Given the description of an element on the screen output the (x, y) to click on. 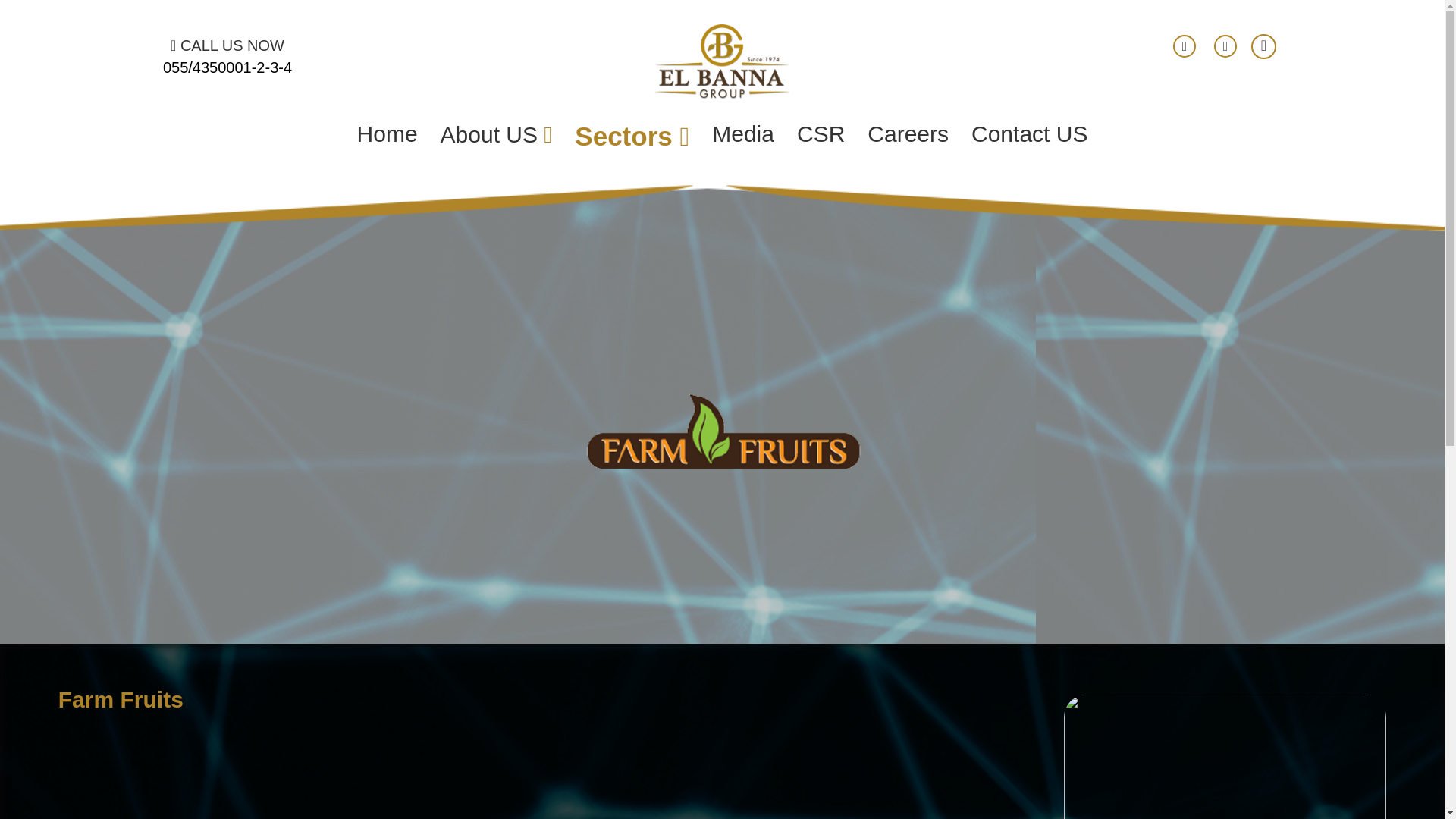
CSR (821, 133)
Careers (907, 133)
Sectors (631, 136)
Contact US (1029, 133)
Media (743, 133)
About US (496, 135)
